Given the description of an element on the screen output the (x, y) to click on. 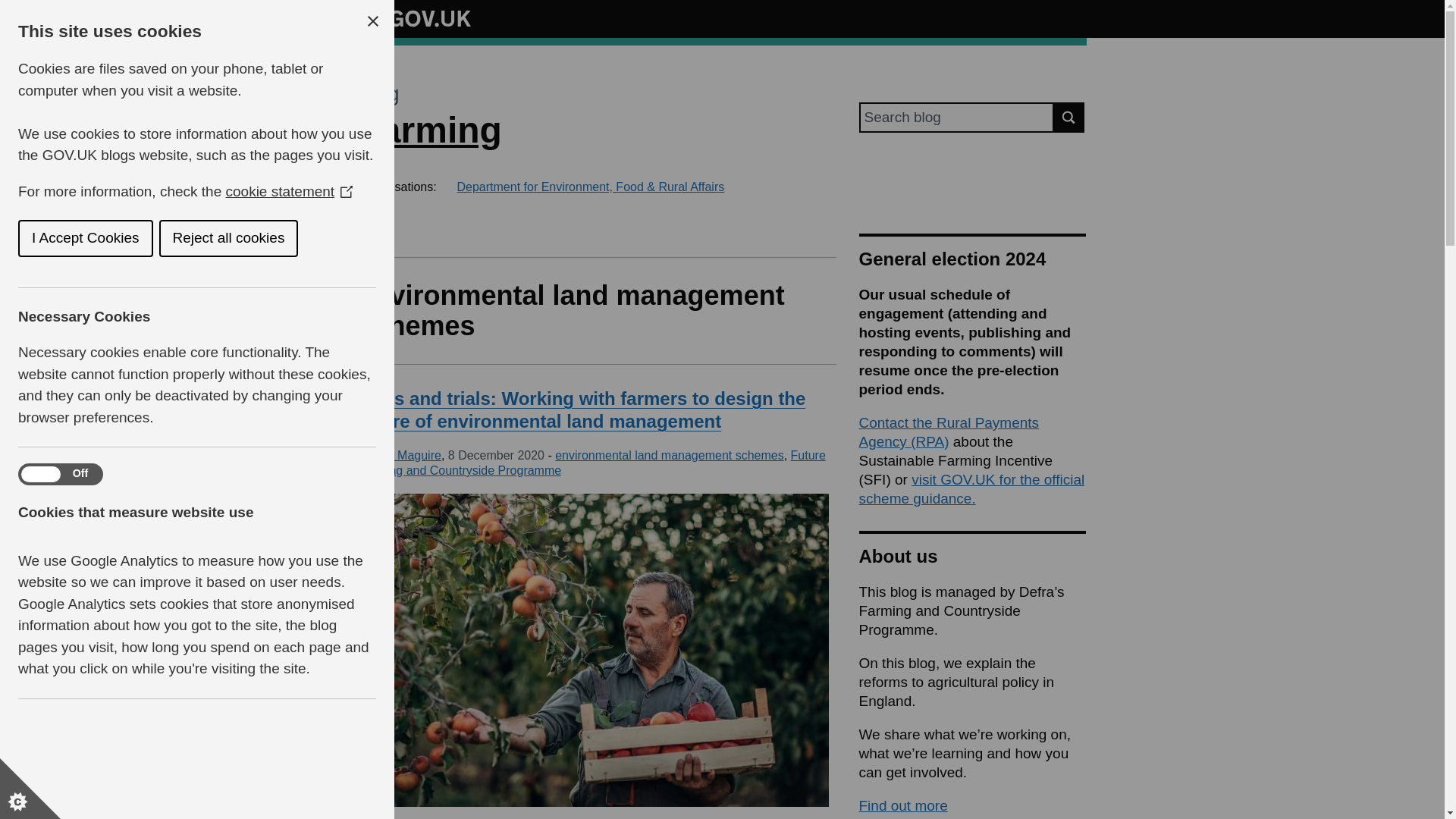
GOV.UK (414, 18)
Search (1069, 117)
Skip to main content (11, 7)
Search (1069, 117)
environmental land management schemes (669, 454)
Posts by Louise Maguire (399, 454)
Reject all cookies (50, 238)
Go to the GOV.UK homepage (414, 18)
Future Farming and Countryside Programme (591, 462)
Blog (378, 93)
visit GOV.UK for the official scheme guidance. (971, 488)
Farming (429, 129)
GOV.UK (414, 15)
Find out more (903, 805)
